Given the description of an element on the screen output the (x, y) to click on. 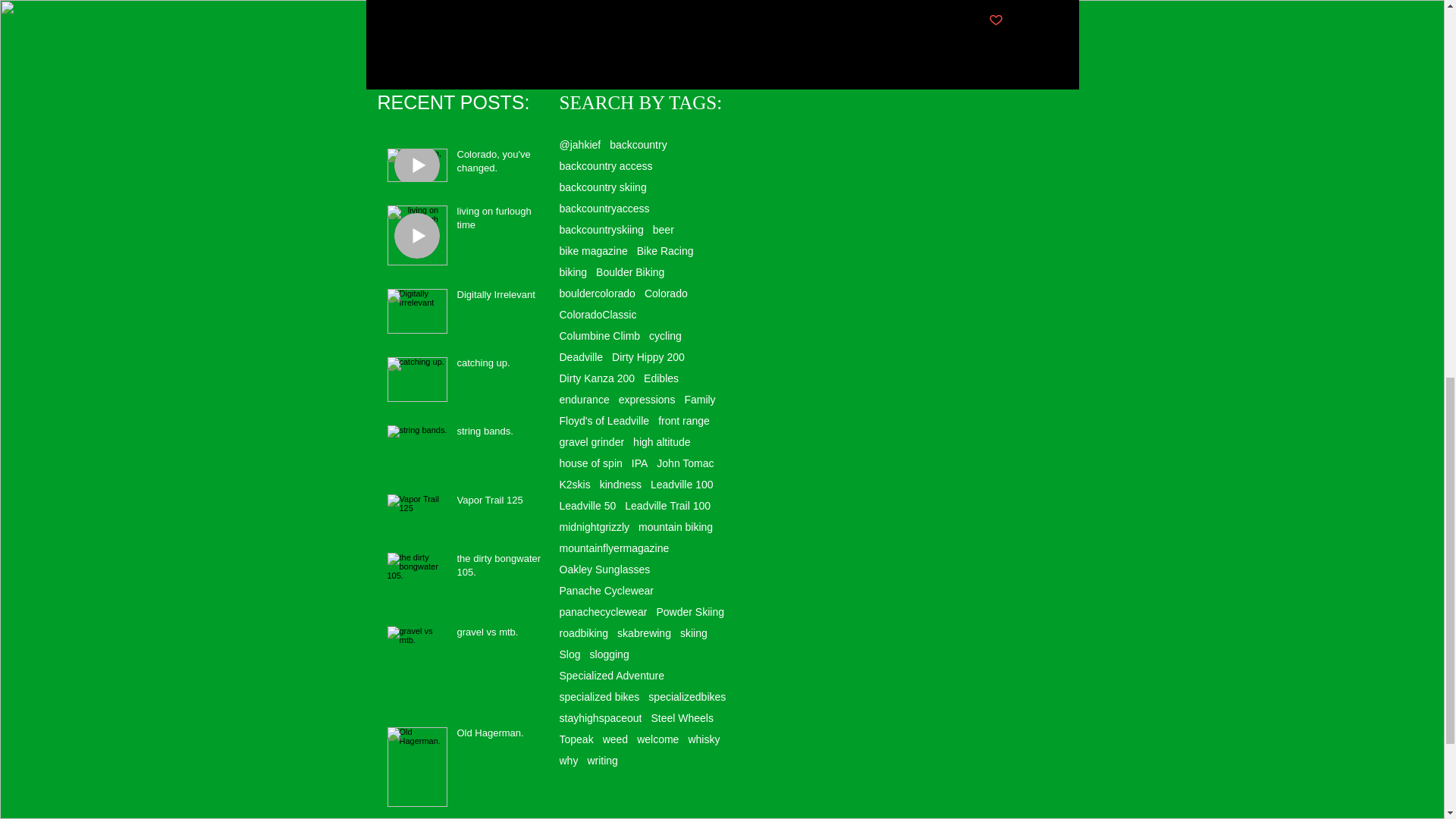
backcountry (638, 144)
Floyd's of Leadville (604, 420)
Bike Racing (665, 250)
string bands. (501, 434)
beer (663, 229)
backcountryaccess (604, 208)
endurance (584, 399)
Family (699, 399)
backcountry skiing (602, 186)
Columbine Climb (599, 336)
